Given the description of an element on the screen output the (x, y) to click on. 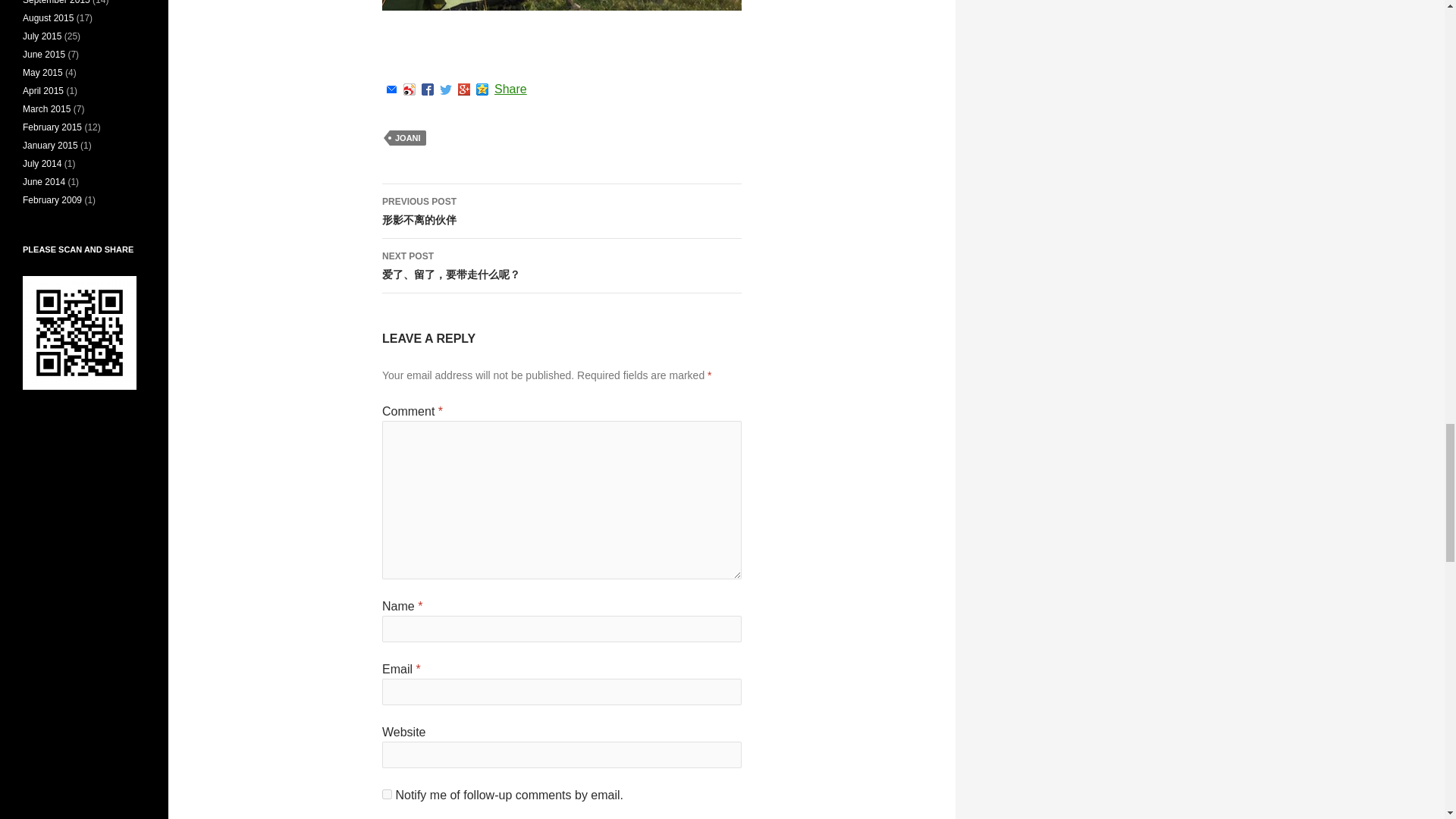
Twitter (445, 89)
Facebook (427, 89)
Email (390, 89)
QQ (482, 89)
subscribe (386, 794)
Sina Weibo (409, 89)
